Given the description of an element on the screen output the (x, y) to click on. 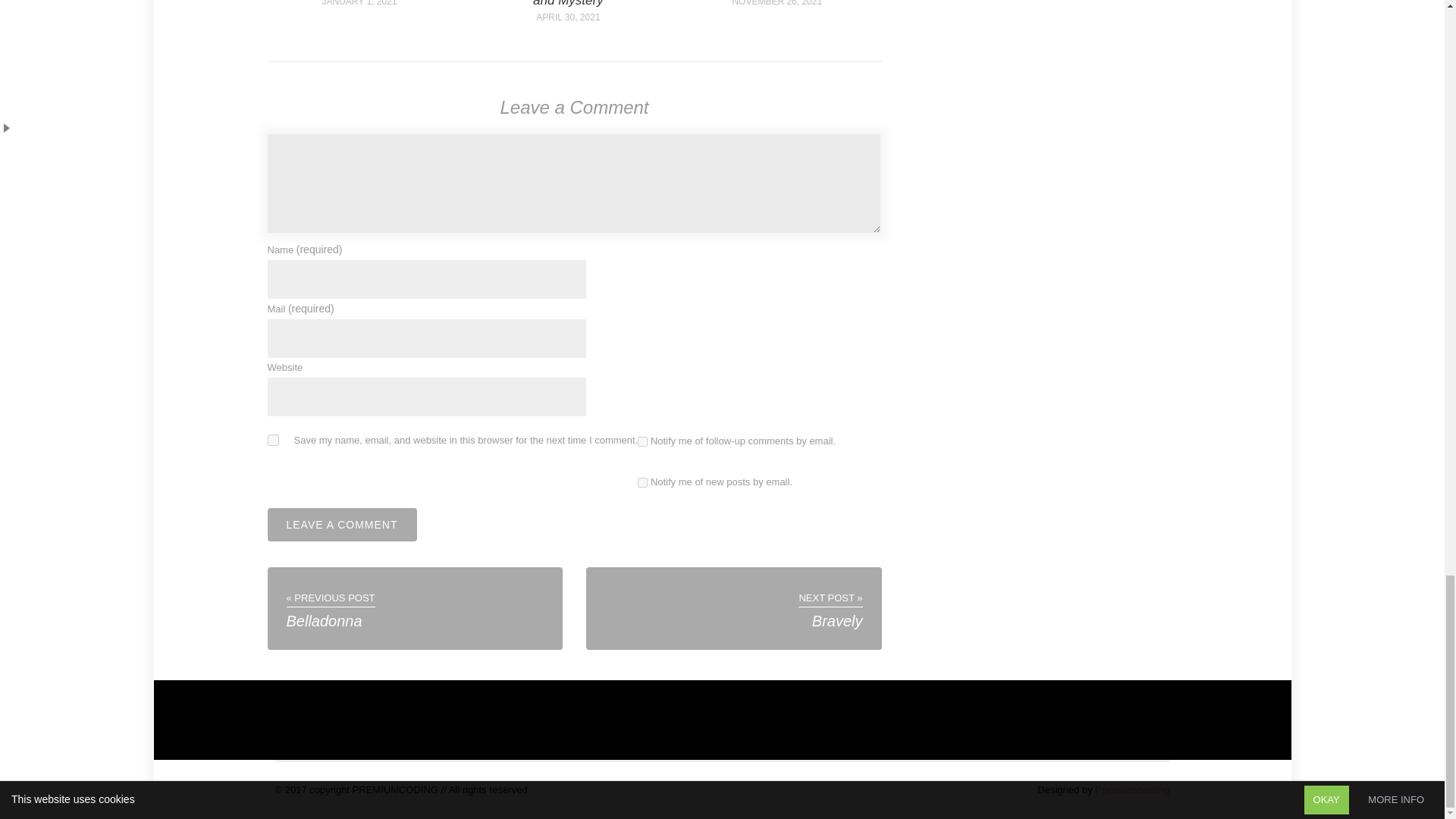
Leave a Comment (341, 524)
